Given the description of an element on the screen output the (x, y) to click on. 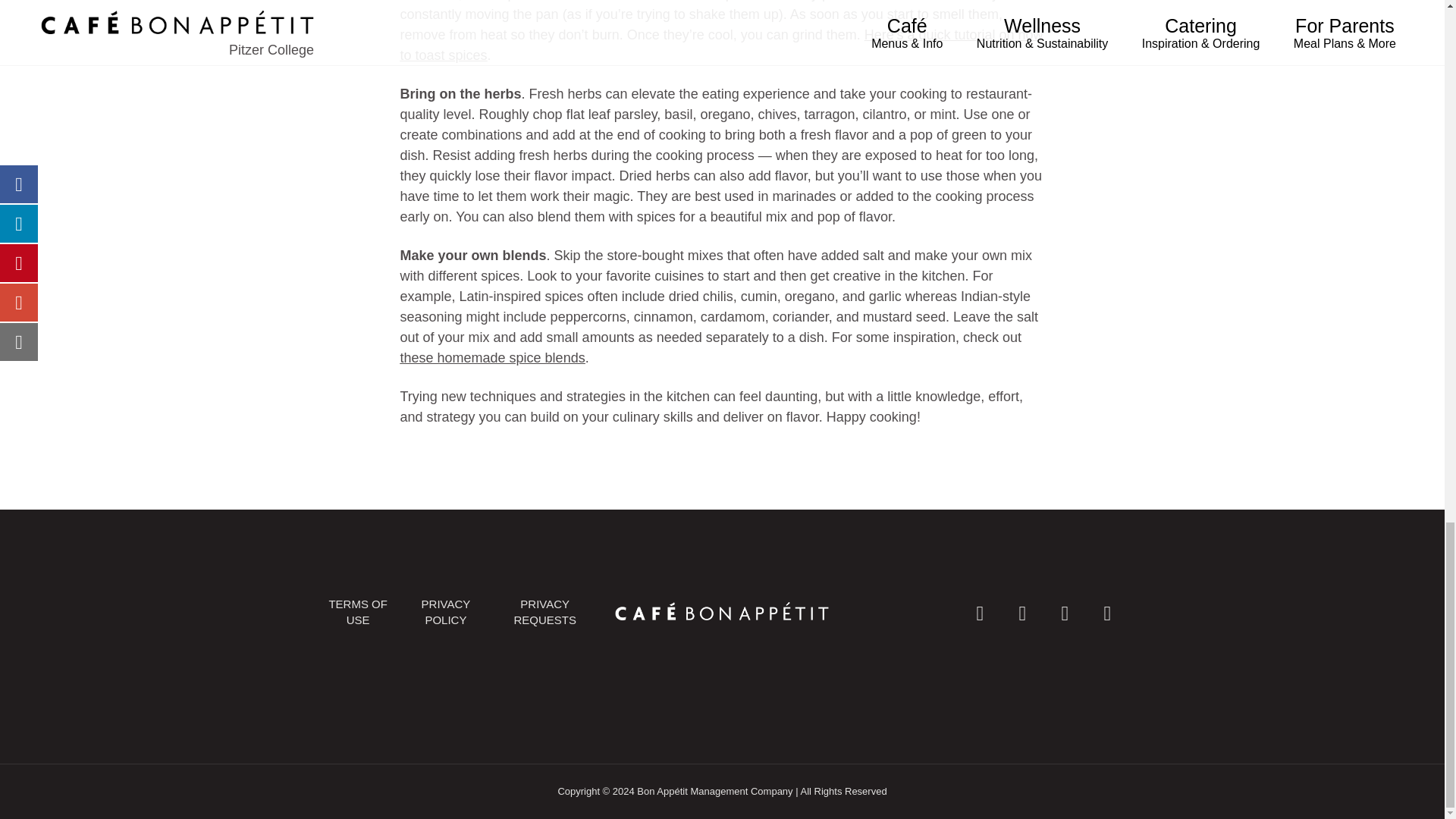
Follow us on Instagram (1022, 611)
Find us on Facebook (979, 611)
PRIVACY REQUESTS (544, 611)
Find us on Facebook (979, 611)
Pitzer College (721, 610)
Follow us on Twitter (1064, 611)
Follow us on LinkedIn (1106, 611)
TERMS OF USE (358, 611)
Follow us on Twitter (1064, 611)
PRIVACY POLICY (446, 611)
these homemade spice blends (492, 357)
Follow us on Instagram (1022, 611)
Follow us on LinkedIn (1106, 611)
